Given the description of an element on the screen output the (x, y) to click on. 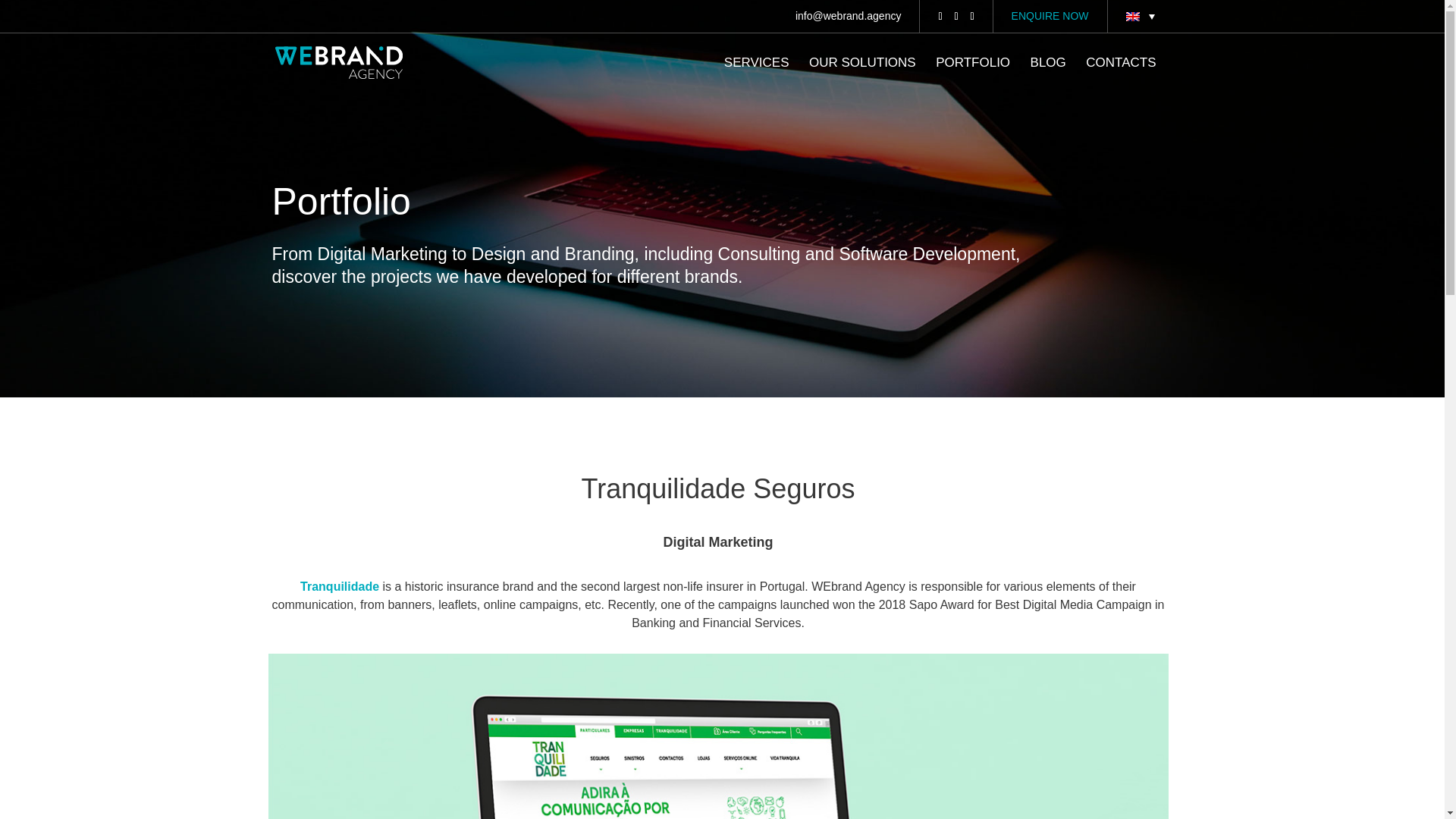
CONTACTS (1121, 75)
Tranquilidade (338, 585)
PORTFOLIO (973, 75)
BLOG (1047, 75)
OUR SOLUTIONS (862, 75)
SERVICES (756, 75)
ENQUIRE NOW (1050, 15)
